Given the description of an element on the screen output the (x, y) to click on. 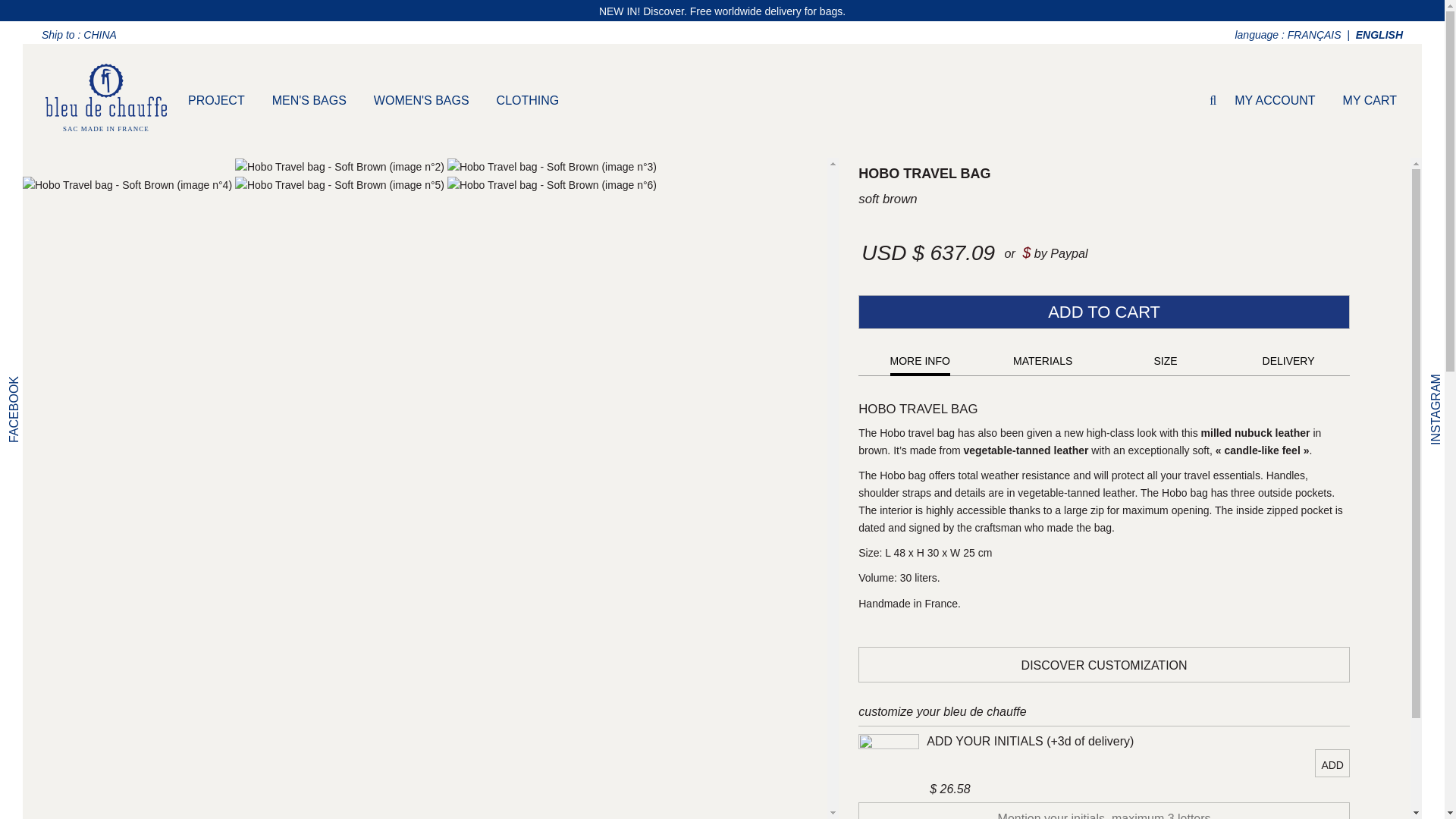
ENGLISH (1379, 34)
Clothing (528, 100)
Ship to : CHINA (82, 34)
Men's Bags (309, 100)
PROJECT (216, 100)
SAC MADE IN FRANCE (106, 101)
MEN'S BAGS (309, 100)
Project (216, 100)
Bleu de chauffe (106, 101)
NEW IN! Discover. Free worldwide delivery for bags. (722, 10)
Women's Bags (421, 100)
